Given the description of an element on the screen output the (x, y) to click on. 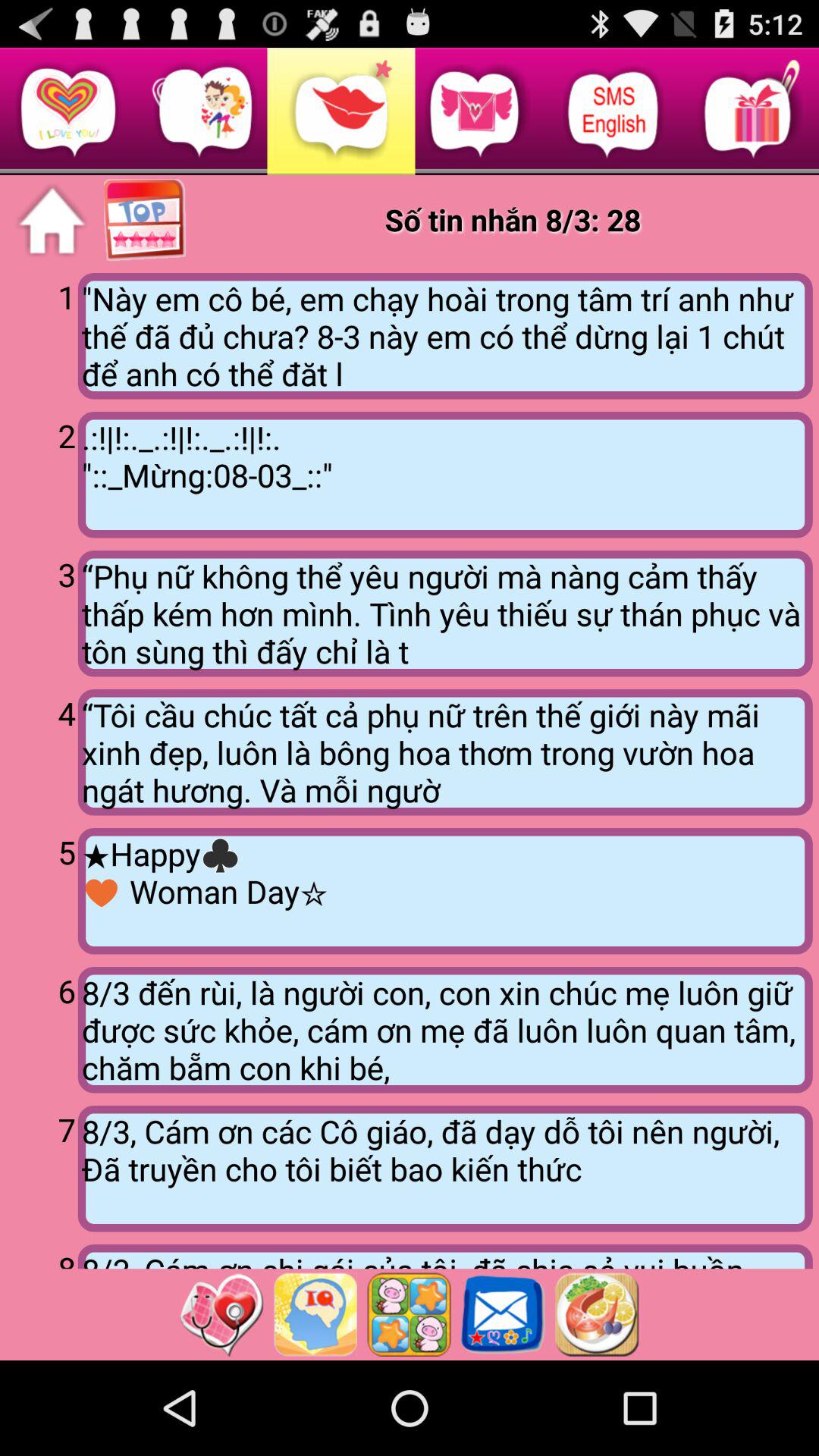
open messages (502, 1314)
